Given the description of an element on the screen output the (x, y) to click on. 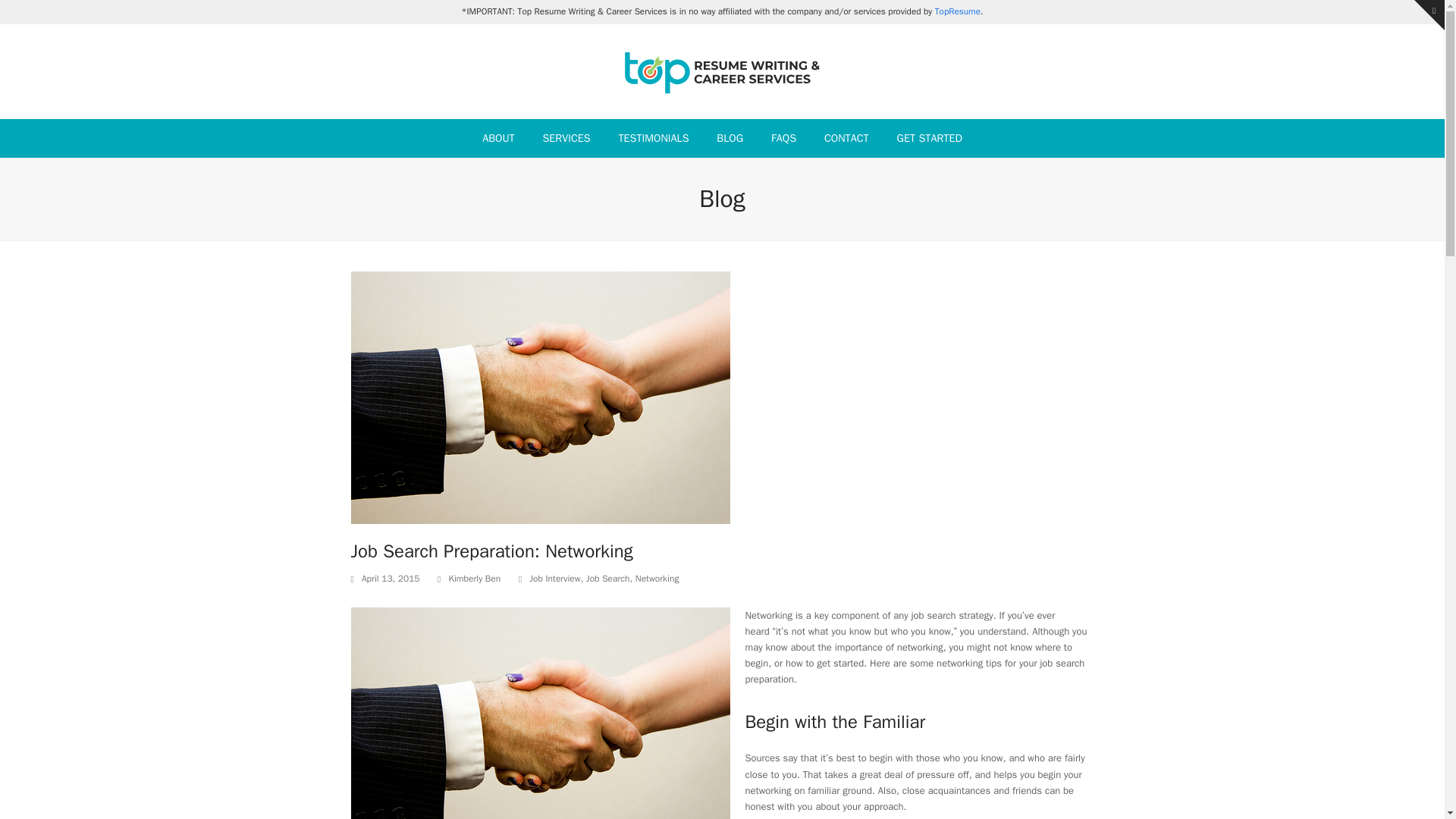
Job Search (608, 578)
SERVICES (565, 138)
GET STARTED (928, 138)
Networking (656, 578)
Posts by Kimberly Ben (474, 578)
CONTACT (845, 138)
TopResume (956, 10)
TESTIMONIALS (653, 138)
Job Interview (554, 578)
ABOUT (498, 138)
BLOG (729, 138)
FAQS (783, 138)
Kimberly Ben (474, 578)
